Given the description of an element on the screen output the (x, y) to click on. 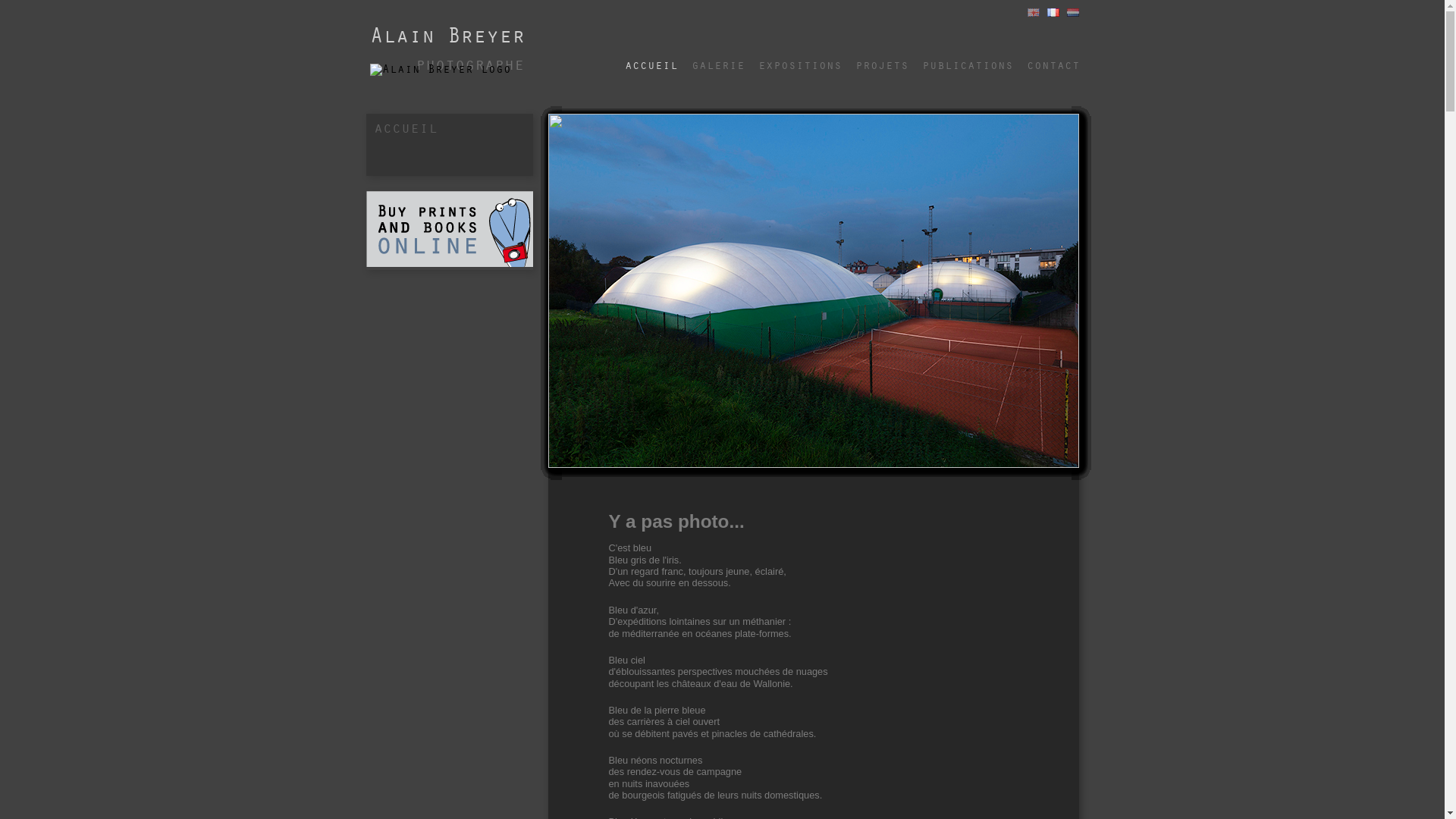
accueil Element type: text (650, 58)
Nederlands Element type: hover (1072, 12)
expositions Element type: text (799, 58)
BD_photo_1.jpg Element type: hover (812, 290)
projets Element type: text (881, 58)
English Element type: hover (1032, 12)
BD_photo_5.jpg Element type: hover (812, 290)
publications Element type: text (967, 58)
BD_photo_13.jpg Element type: hover (812, 288)
contact Element type: text (1052, 58)
galerie Element type: text (717, 58)
